Given the description of an element on the screen output the (x, y) to click on. 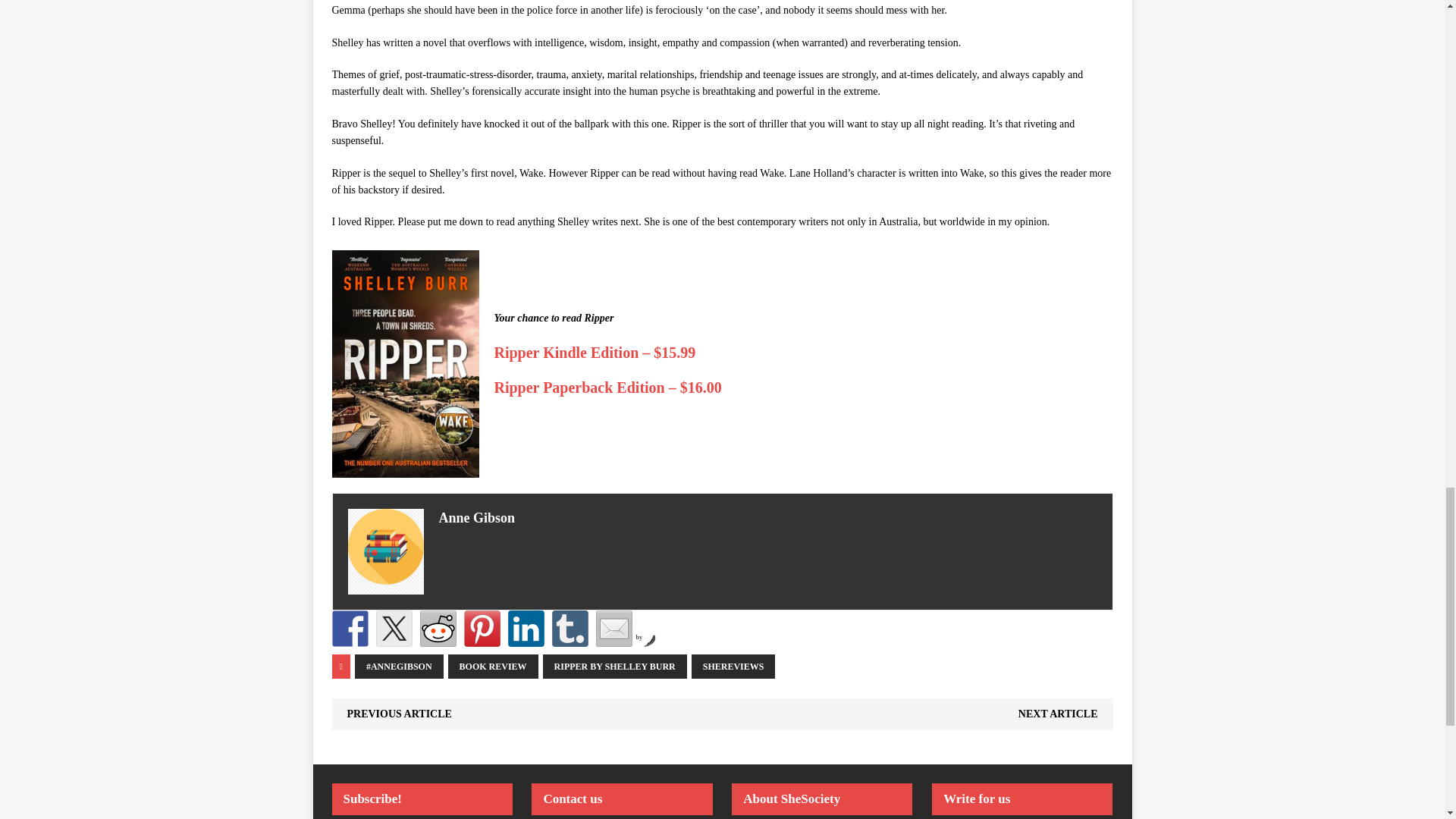
Pin it with Pinterest (482, 628)
Share on Facebook (349, 628)
Share on Twitter (393, 628)
Share on Linkedin (526, 628)
Share by email (613, 628)
Share on Reddit (438, 628)
Share on tumblr (569, 628)
